Given the description of an element on the screen output the (x, y) to click on. 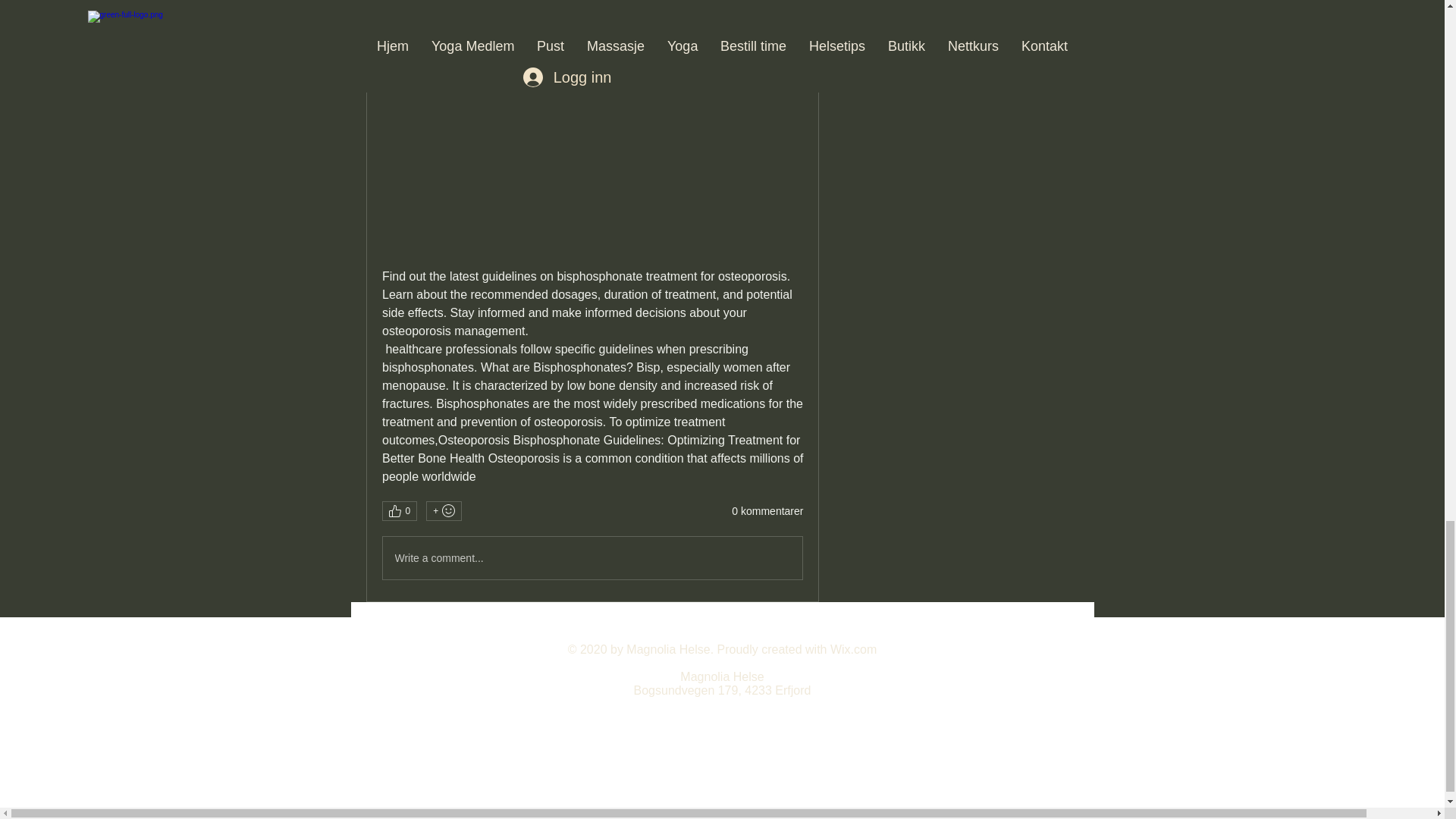
0 kommentarer (767, 511)
Magnolia Helse (720, 676)
Wix.com (852, 649)
Bogsundvegen 179, 4233 Erfjord (721, 689)
Write a comment... (591, 558)
